Given the description of an element on the screen output the (x, y) to click on. 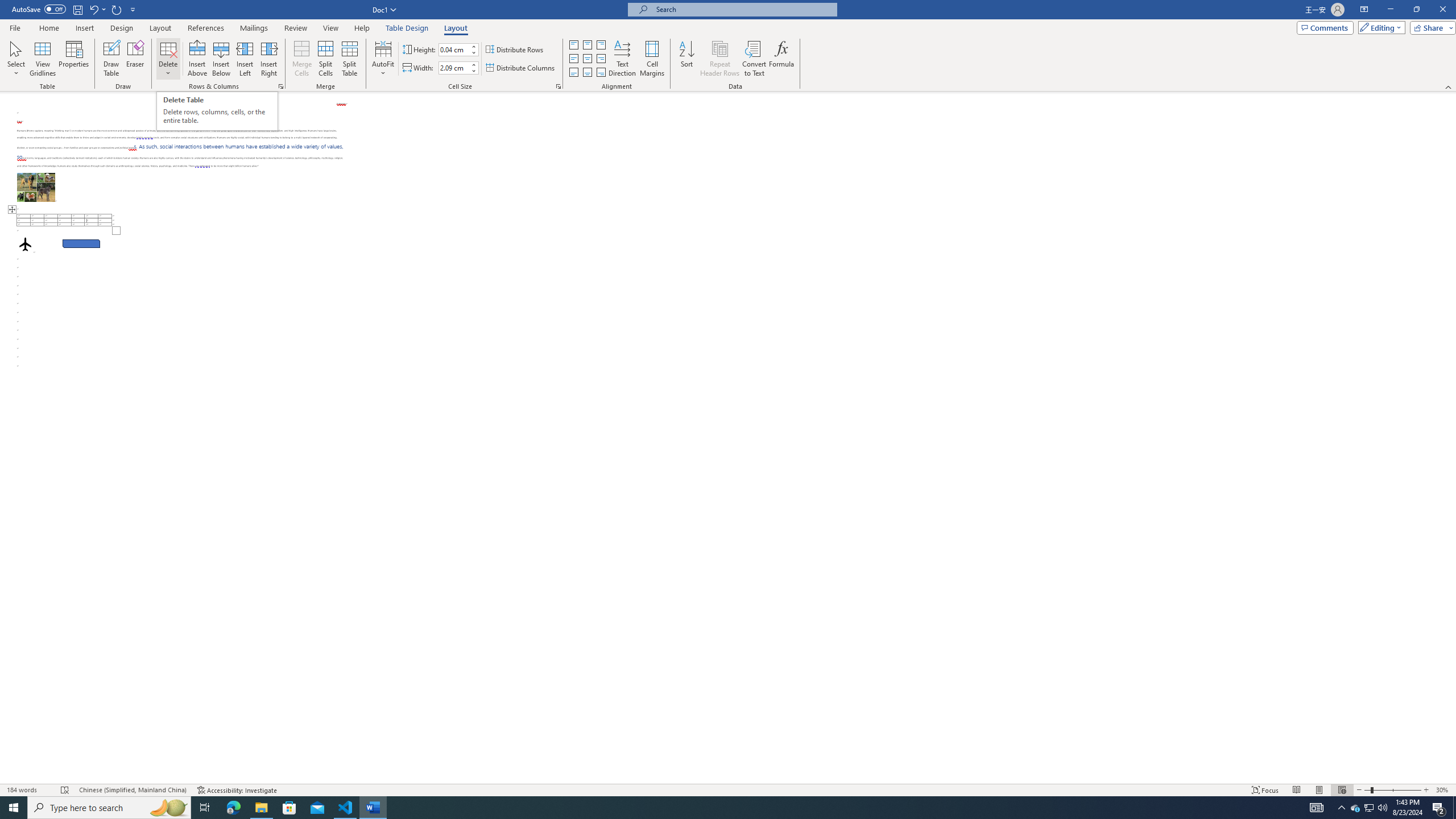
Distribute Rows (515, 49)
Table Column Width (453, 67)
Split Cells... (325, 58)
Draw Table (111, 58)
Align Top Justified (573, 44)
Cell Margins... (652, 58)
